Given the description of an element on the screen output the (x, y) to click on. 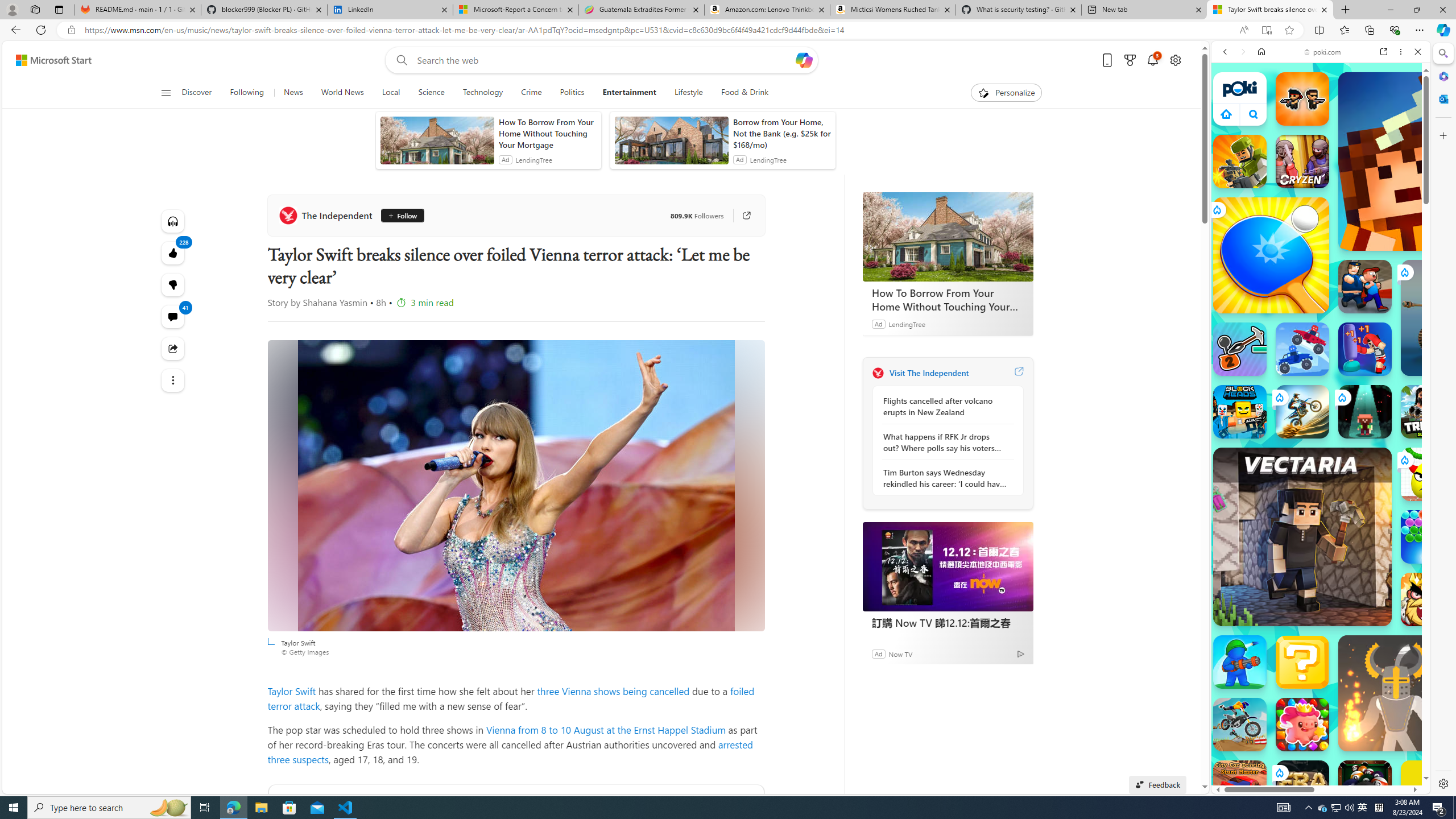
Visit The Independent website (1018, 372)
Taylor Swift  (292, 690)
Ping Pong Go! Ping Pong Go! (1270, 255)
Poki (1315, 754)
Match Arena Match Arena (1302, 724)
Shooting Games (1320, 295)
The Independent (327, 215)
Era: Evolution (1302, 787)
Vectaria.io (1301, 536)
